Given the description of an element on the screen output the (x, y) to click on. 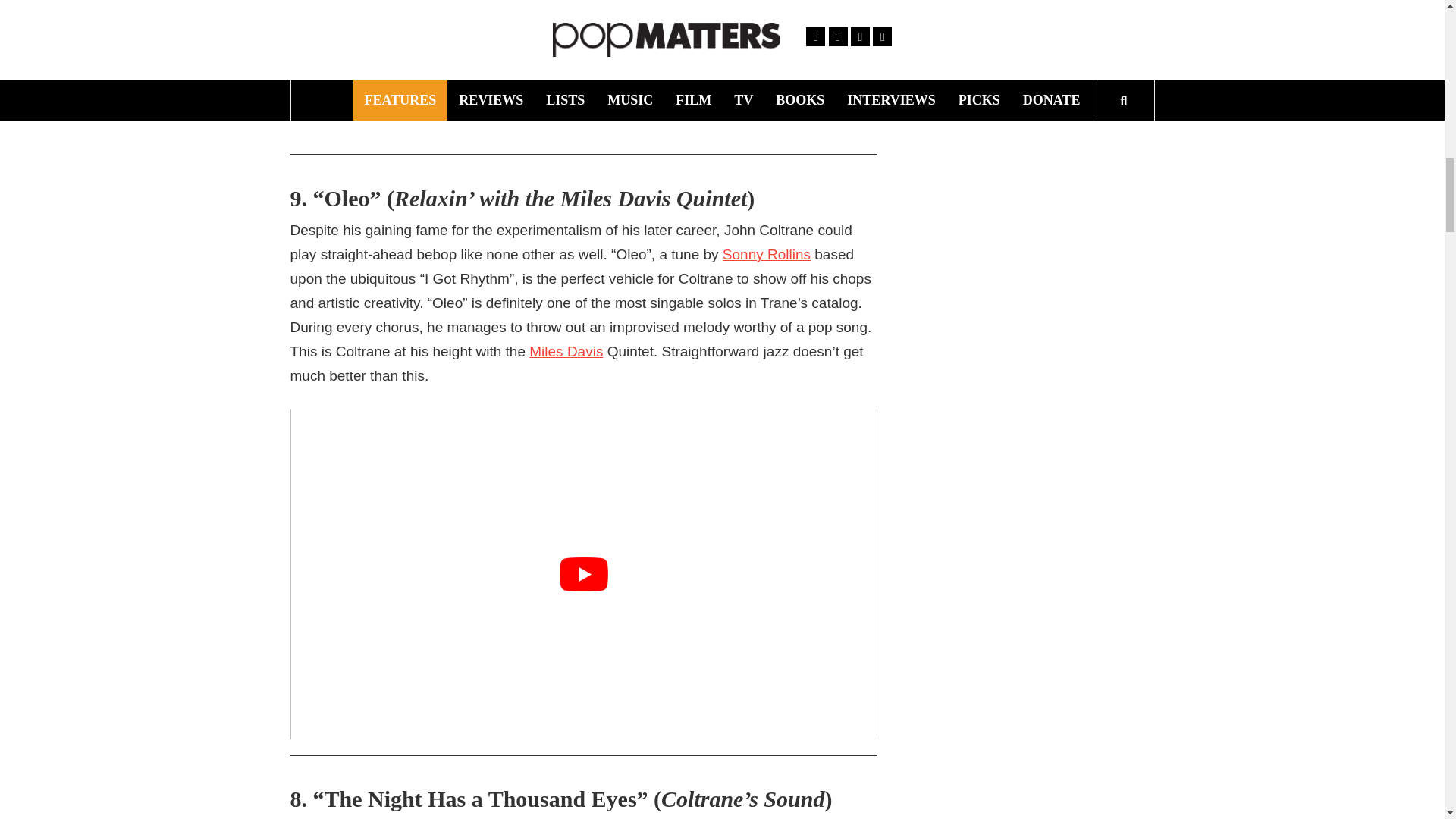
Sonny Rollins (766, 253)
Miles Davis (565, 350)
